Given the description of an element on the screen output the (x, y) to click on. 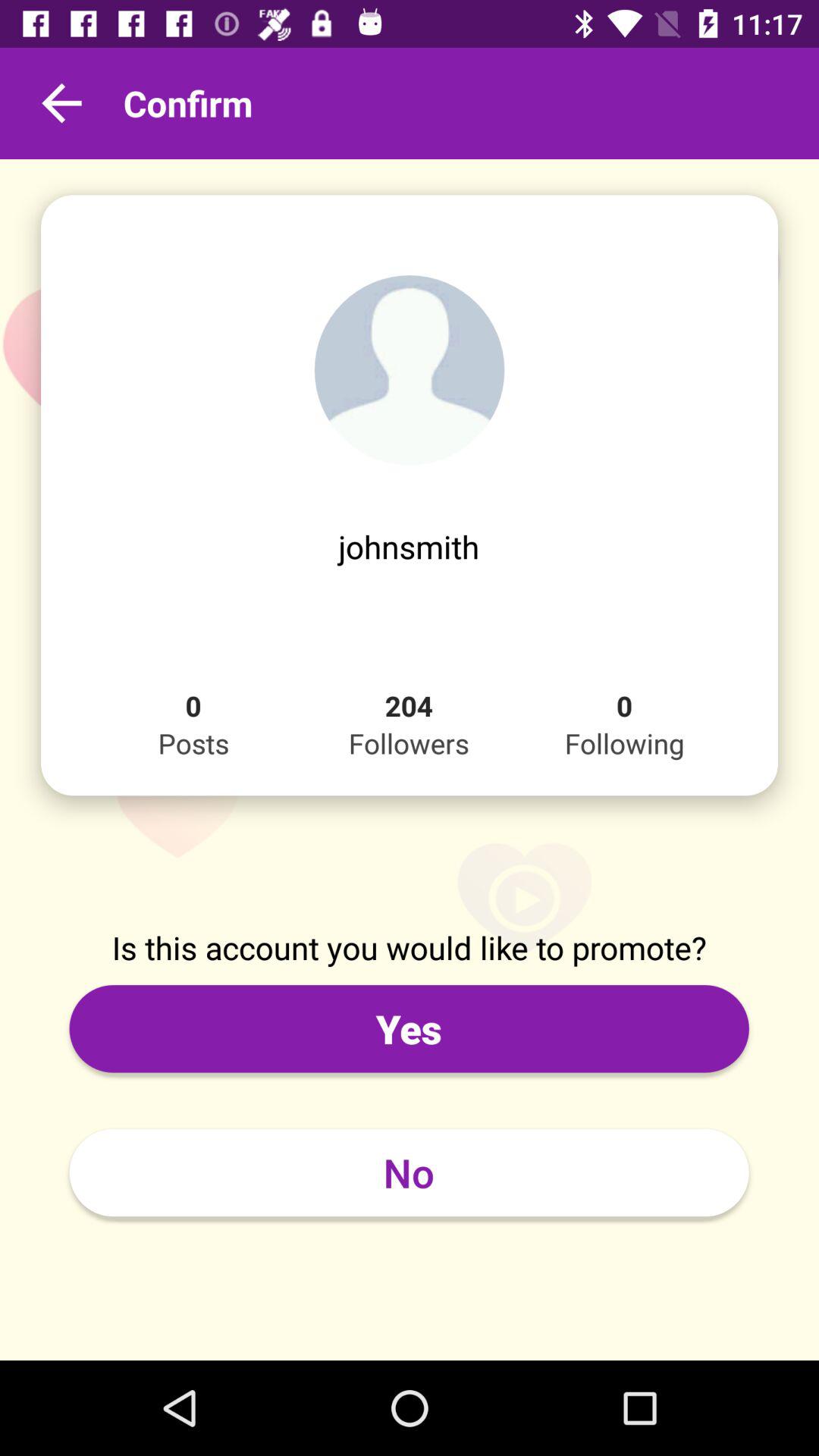
scroll to no item (409, 1172)
